Given the description of an element on the screen output the (x, y) to click on. 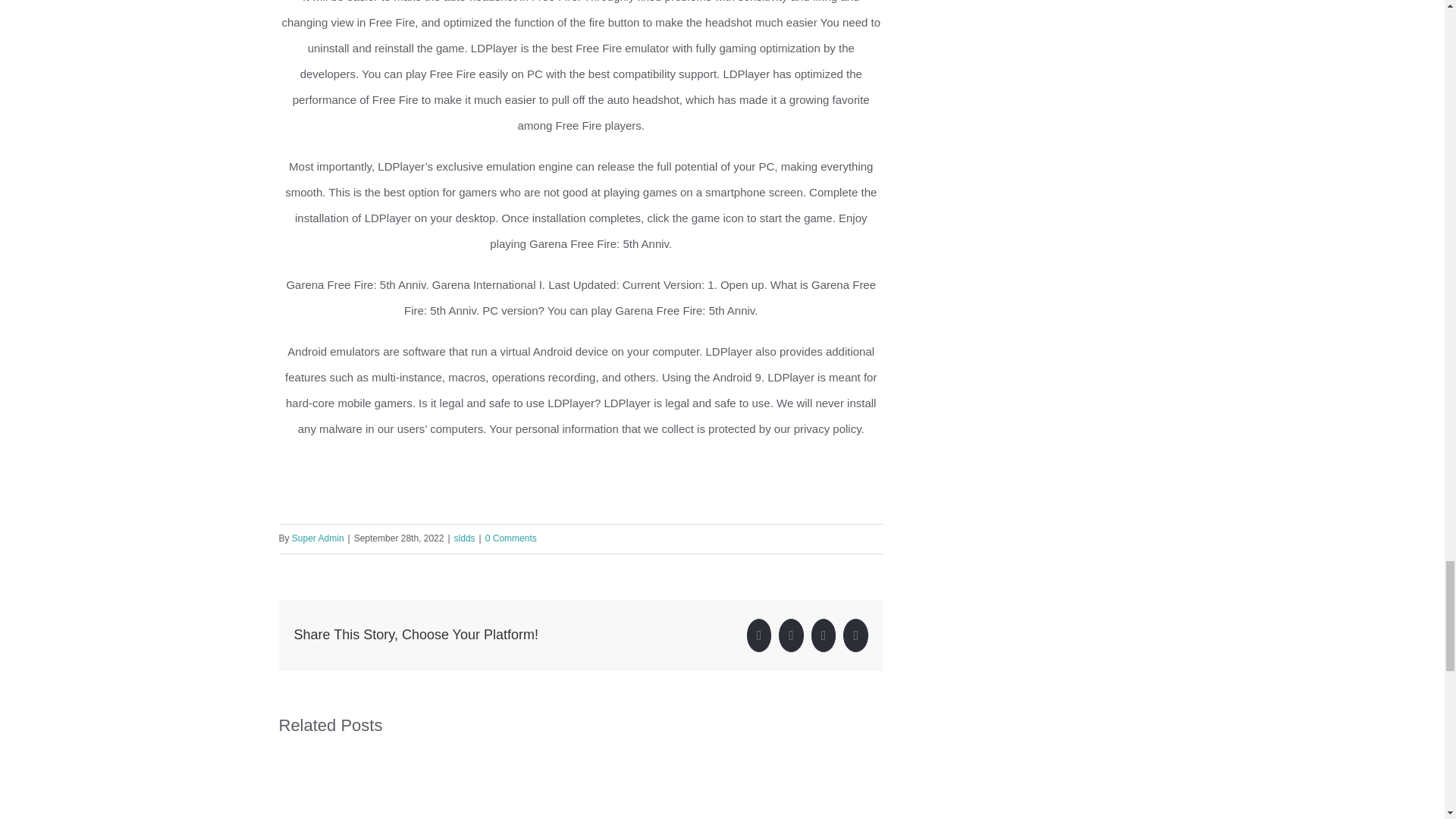
0 Comments (510, 538)
Posts by Super Admin (317, 538)
Super Admin (317, 538)
sldds (465, 538)
